Given the description of an element on the screen output the (x, y) to click on. 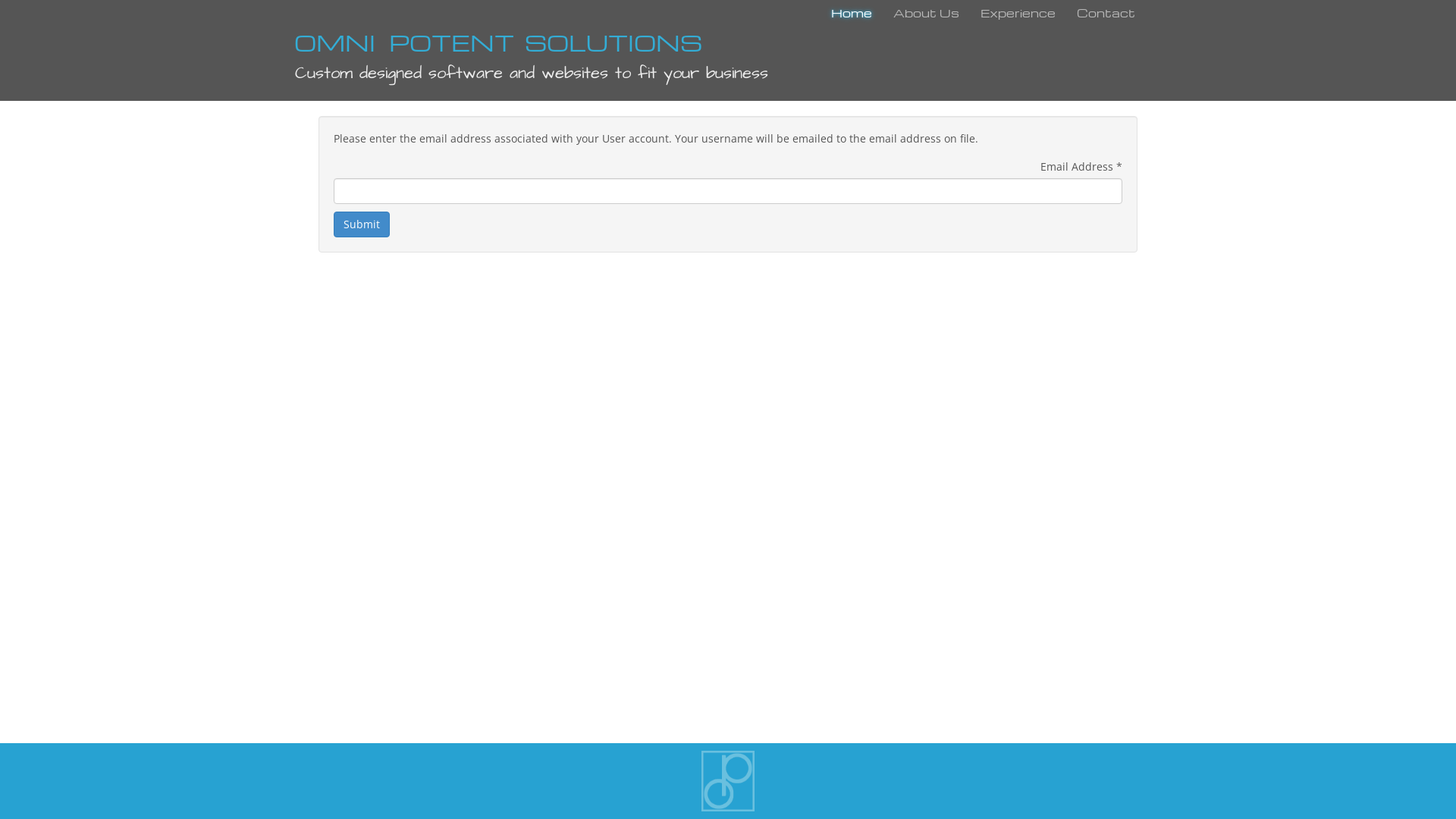
About Us Element type: text (925, 14)
Contact Element type: text (1105, 14)
Experience Element type: text (1017, 14)
Submit Element type: text (361, 224)
Home Element type: text (851, 14)
